Given the description of an element on the screen output the (x, y) to click on. 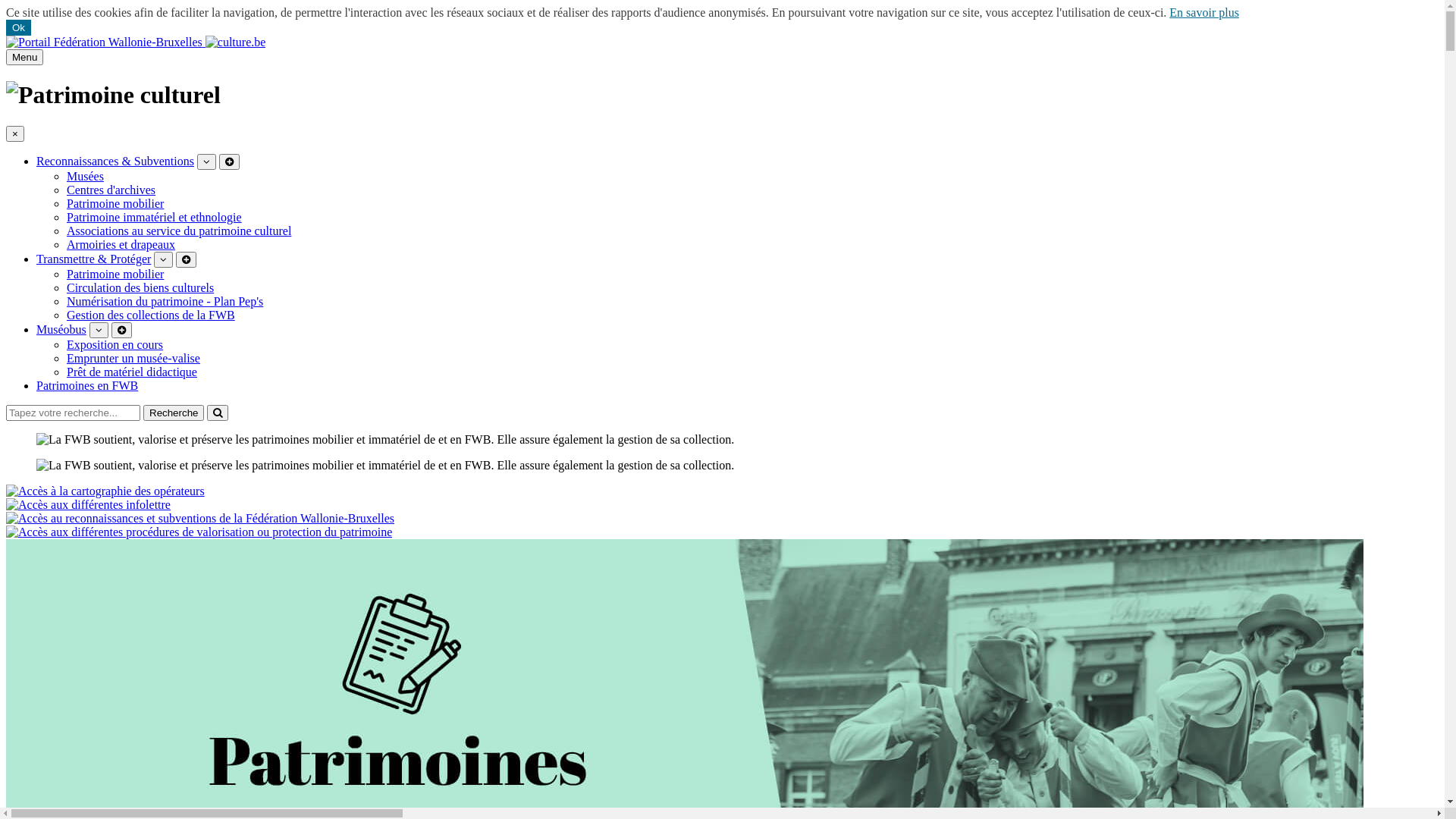
En savoir plus Element type: text (1204, 12)
Aller au contenu principal Element type: text (5, 34)
Gestion des collections de la FWB Element type: text (150, 314)
Exposition en cours Element type: text (114, 344)
Patrimoines en FWB Element type: text (87, 385)
Centres d'archives Element type: text (110, 189)
Reconnaissances & Subventions Element type: text (115, 160)
Menu Element type: text (24, 57)
Circulation des biens culturels Element type: text (139, 287)
Patrimoine mobilier Element type: text (114, 203)
Armoiries et drapeaux Element type: text (120, 244)
Associations au service du patrimoine culturel Element type: text (178, 230)
Recherche Element type: text (173, 412)
Ok Element type: text (18, 27)
Rechercher sur le site Element type: text (217, 412)
Patrimoine mobilier Element type: text (114, 273)
